Given the description of an element on the screen output the (x, y) to click on. 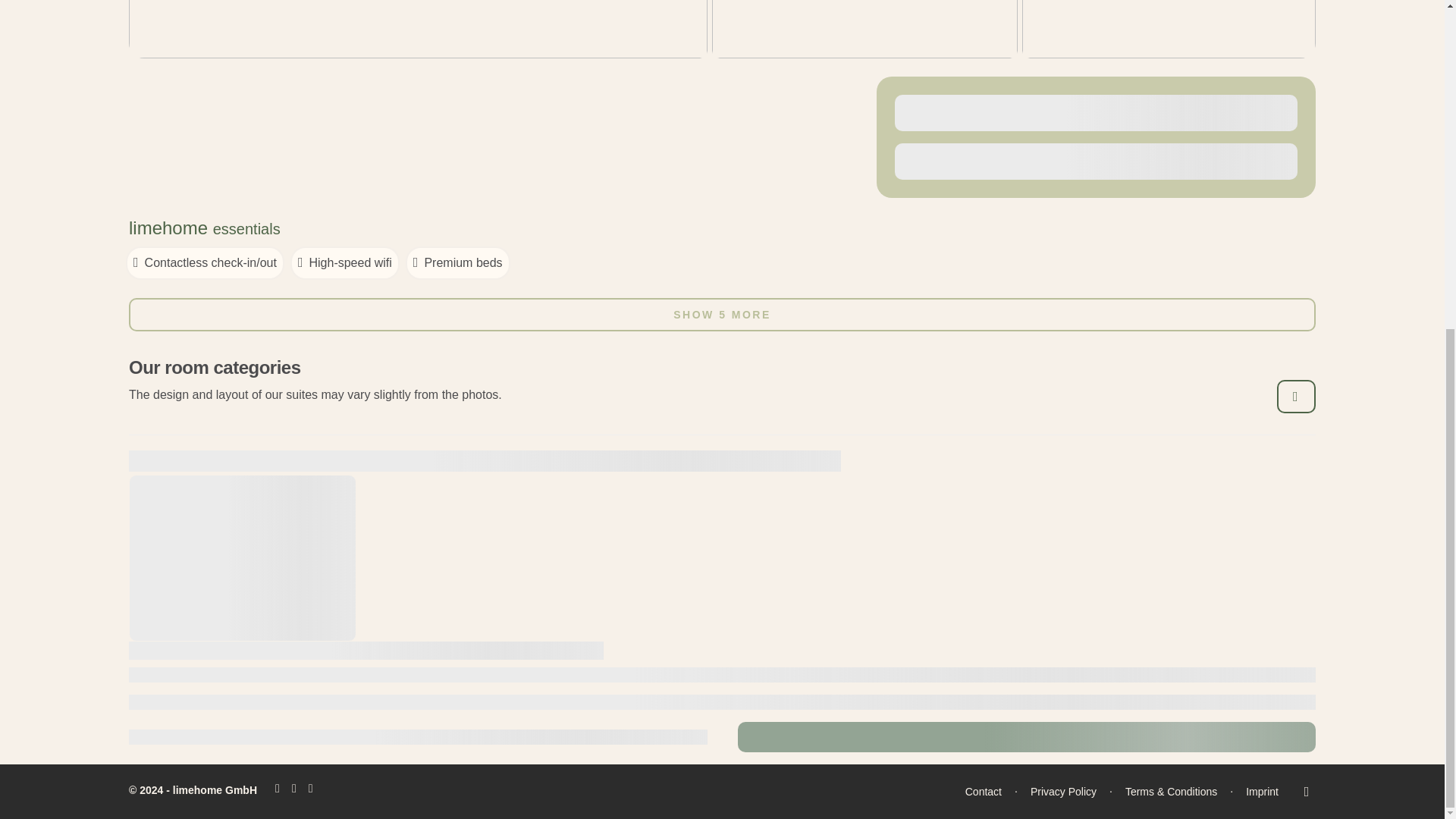
Imprint (1261, 791)
SHOW 5 MORE (722, 314)
Privacy Policy (1063, 791)
Contact (983, 791)
